Given the description of an element on the screen output the (x, y) to click on. 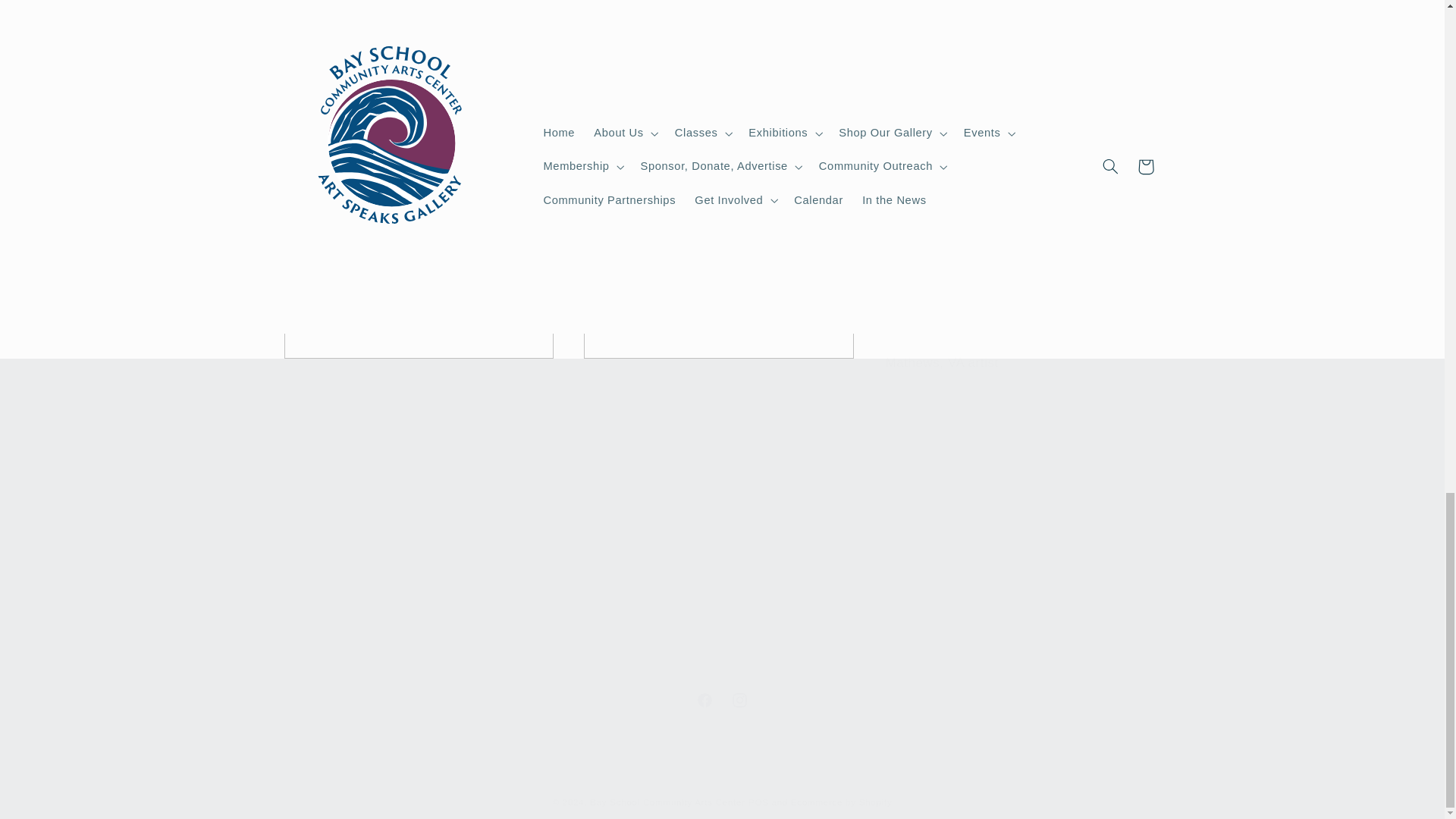
Art Speaks Gallery (721, 700)
